Given the description of an element on the screen output the (x, y) to click on. 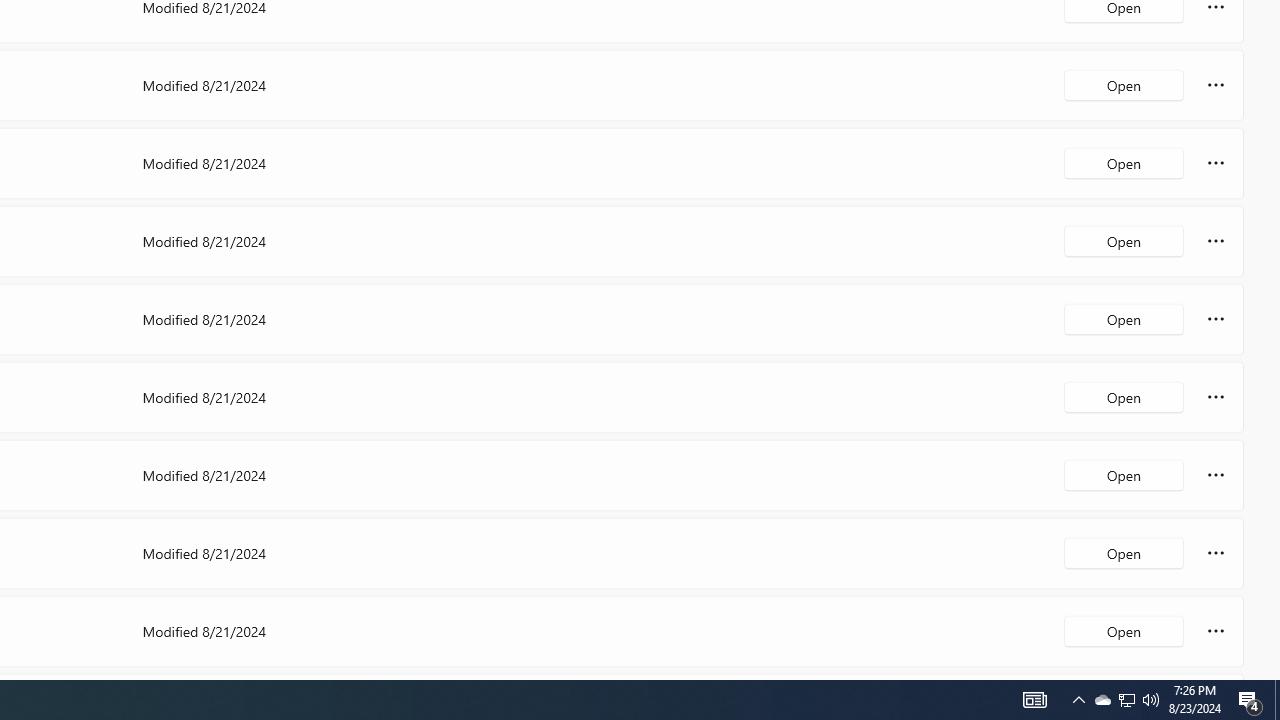
Open (1123, 630)
More options (1215, 630)
